Given the description of an element on the screen output the (x, y) to click on. 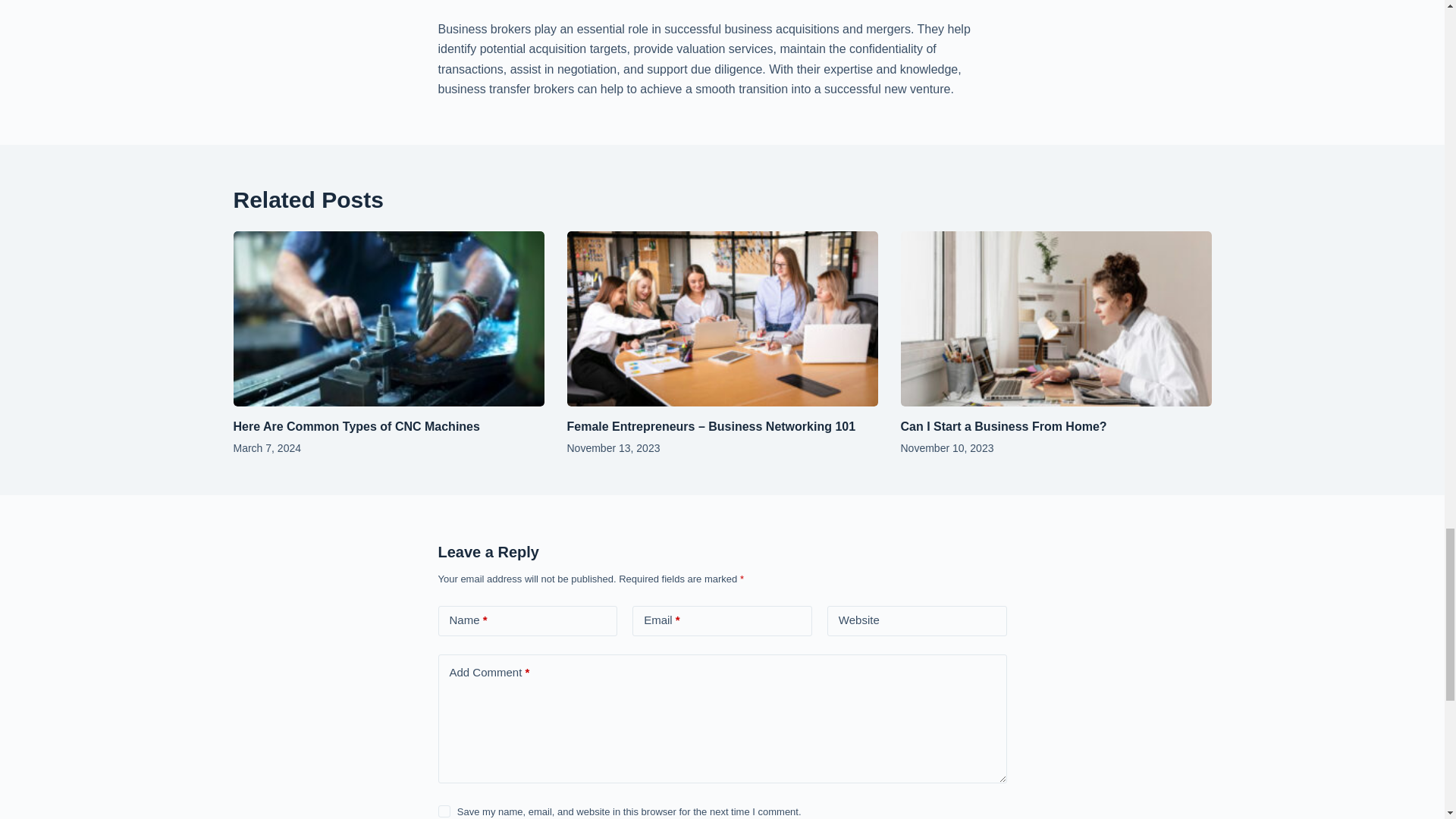
Here Are Common Types of CNC Machines (356, 426)
Can I Start a Business From Home? (1003, 426)
yes (443, 811)
